Given the description of an element on the screen output the (x, y) to click on. 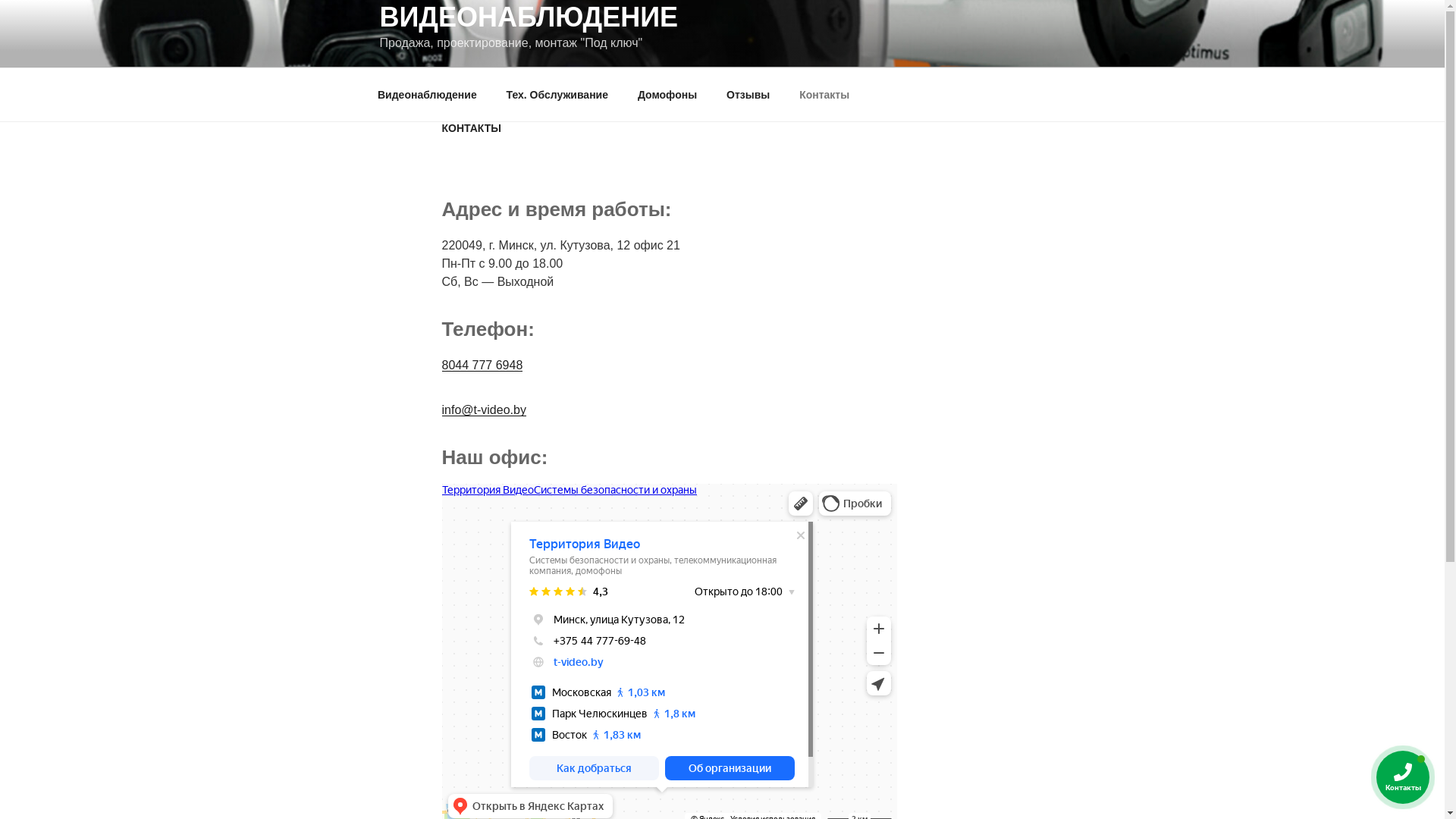
info@t-video.by Element type: text (483, 409)
8044 777 6948 Element type: text (481, 364)
